Given the description of an element on the screen output the (x, y) to click on. 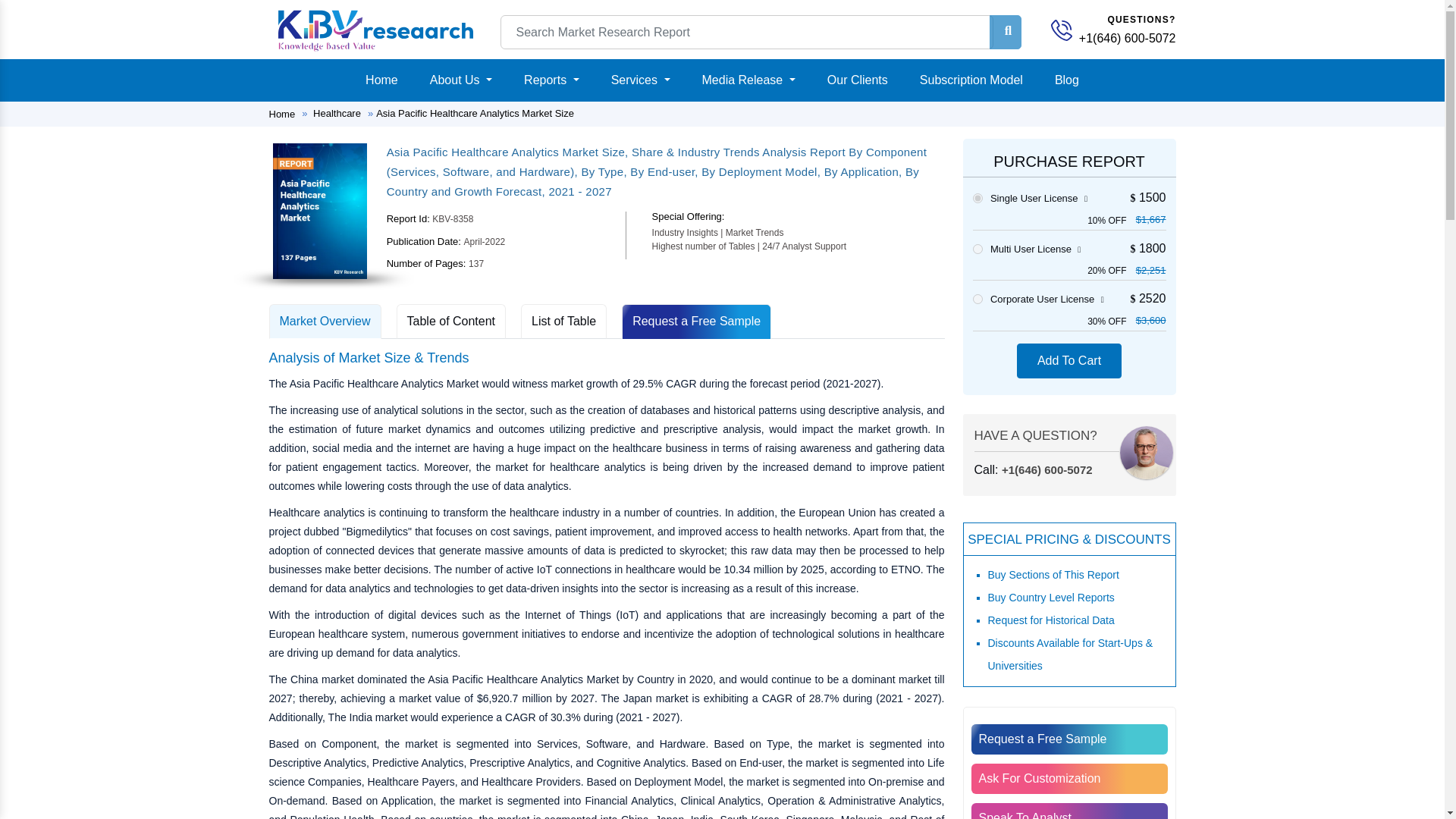
About Us (460, 80)
Home (381, 80)
Subscription Model (971, 80)
2520 (976, 298)
1800 (976, 248)
Blog (1066, 80)
KBV Research (1061, 29)
Services (641, 80)
KBV Research (374, 29)
Reports (551, 80)
